Given the description of an element on the screen output the (x, y) to click on. 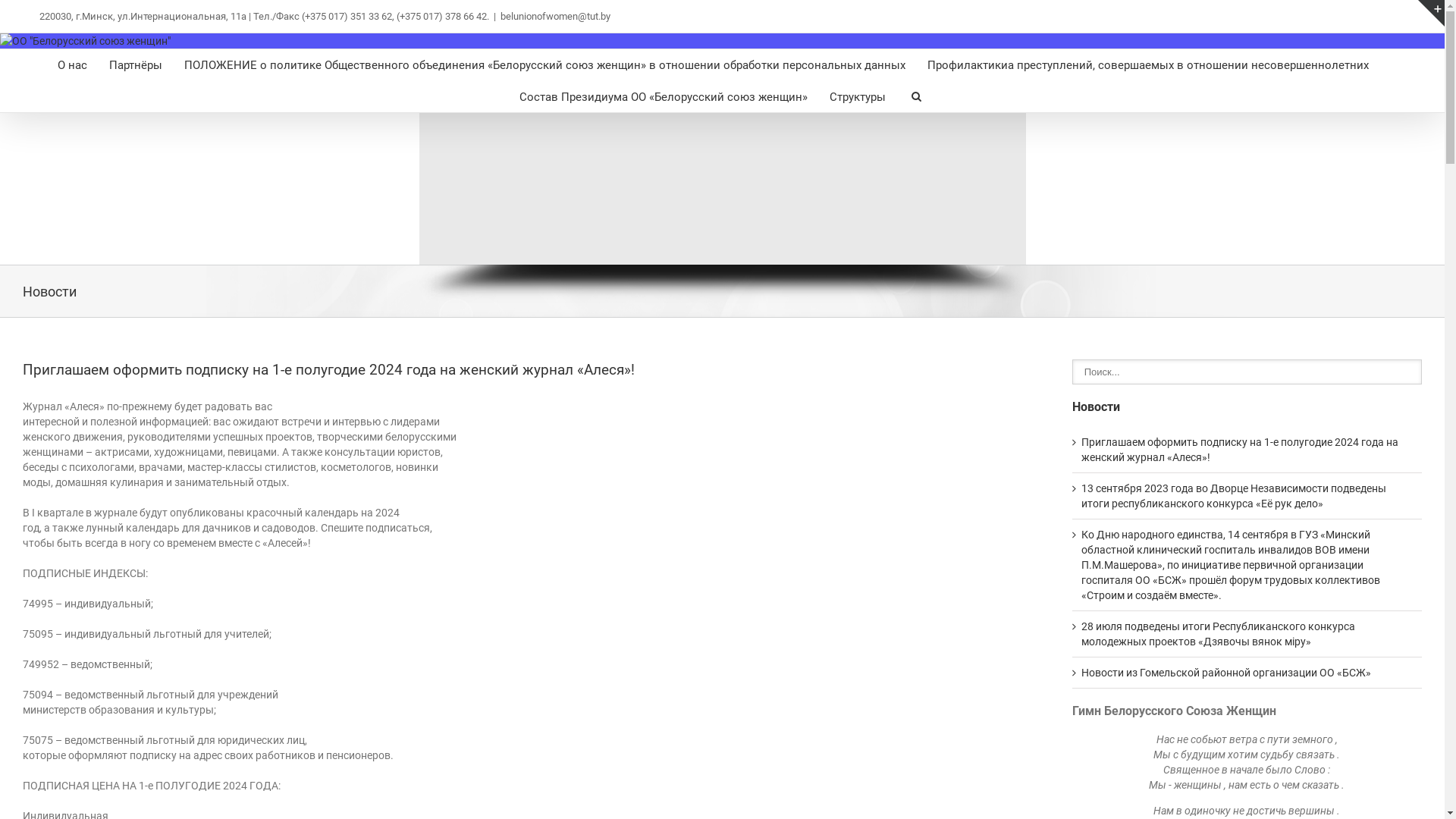
belunionofwomen@tut.by Element type: text (555, 15)
